Given the description of an element on the screen output the (x, y) to click on. 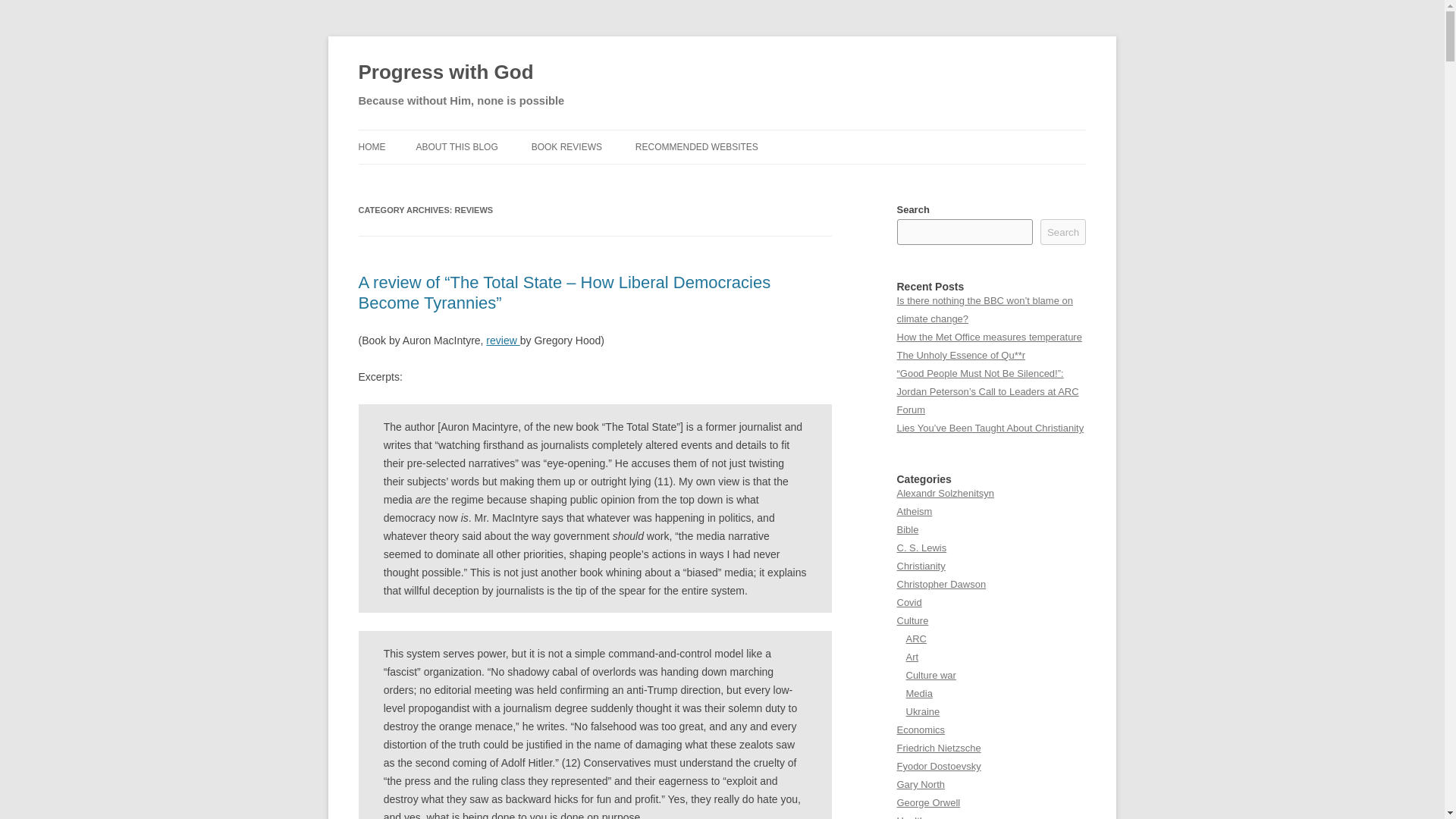
Progress with God (445, 72)
review (502, 340)
RECOMMENDED WEBSITES (696, 146)
BOOK REVIEWS (566, 146)
ABOUT THIS BLOG (455, 146)
Progress with God (445, 72)
